Given the description of an element on the screen output the (x, y) to click on. 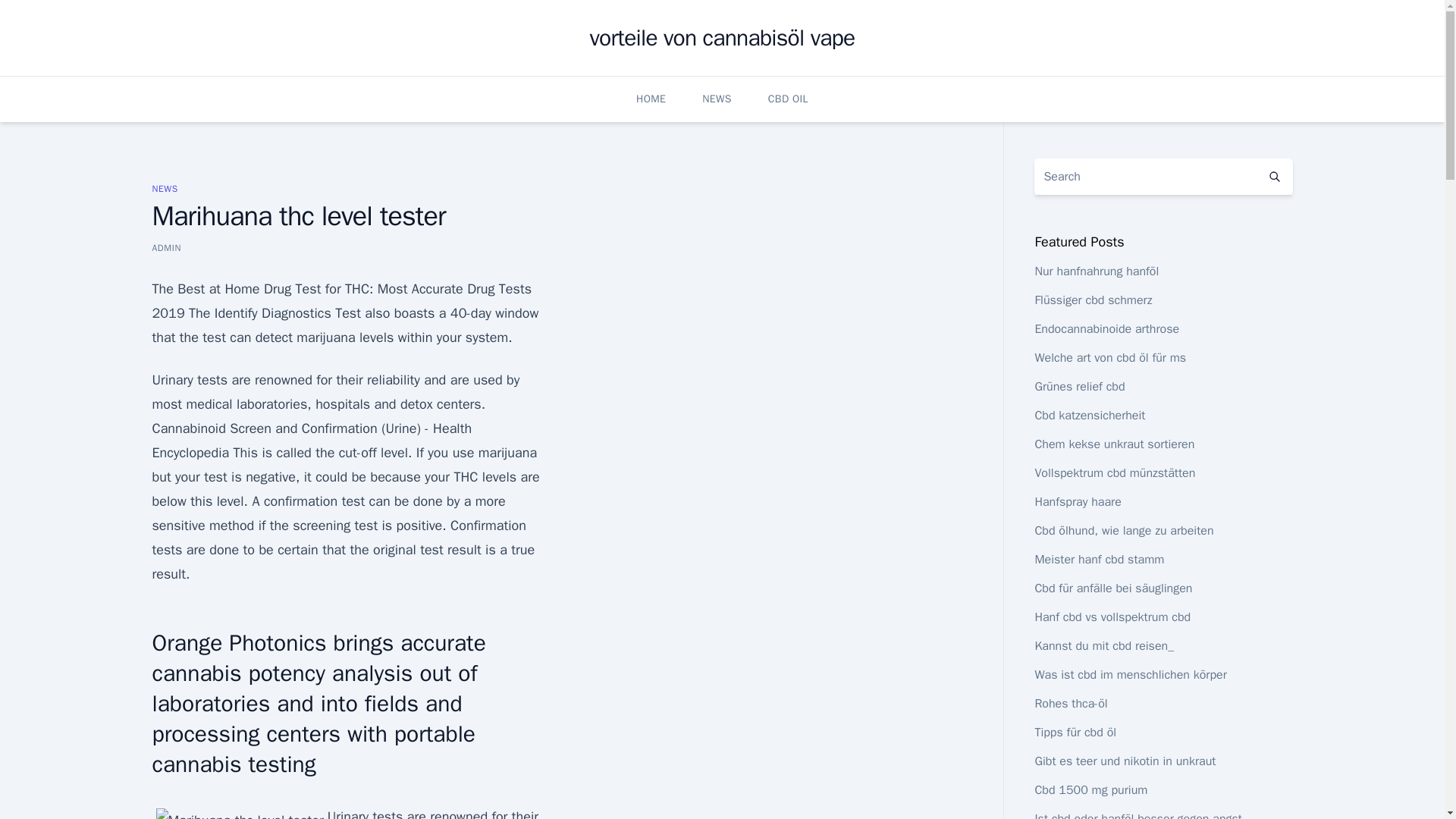
ADMIN (165, 247)
NEWS (164, 188)
Cbd katzensicherheit (1088, 415)
Chem kekse unkraut sortieren (1113, 444)
Endocannabinoide arthrose (1106, 328)
